Given the description of an element on the screen output the (x, y) to click on. 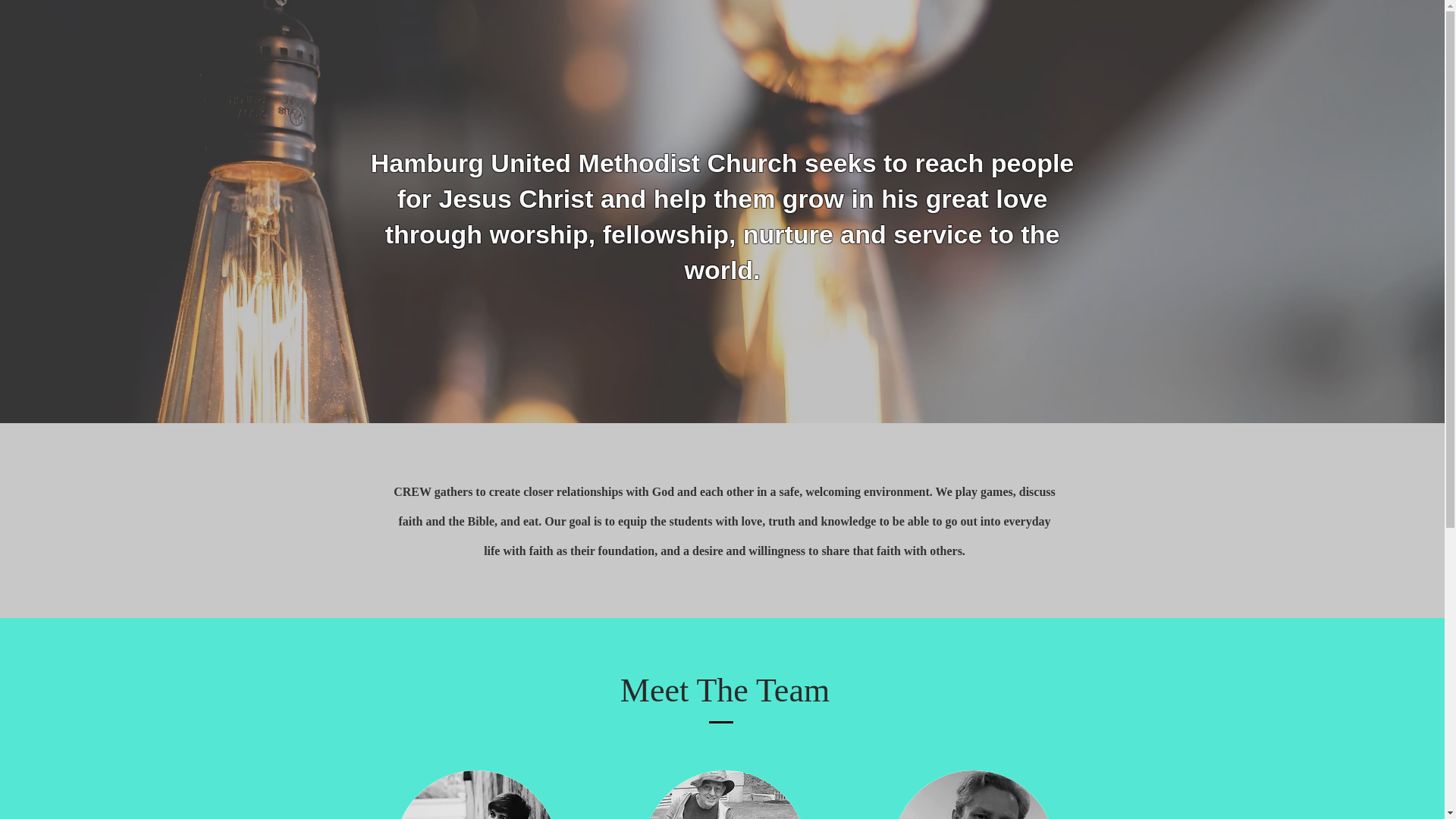
guy2.jpg (475, 794)
guy2.jpg (973, 794)
guy2.jpg (724, 794)
